Given the description of an element on the screen output the (x, y) to click on. 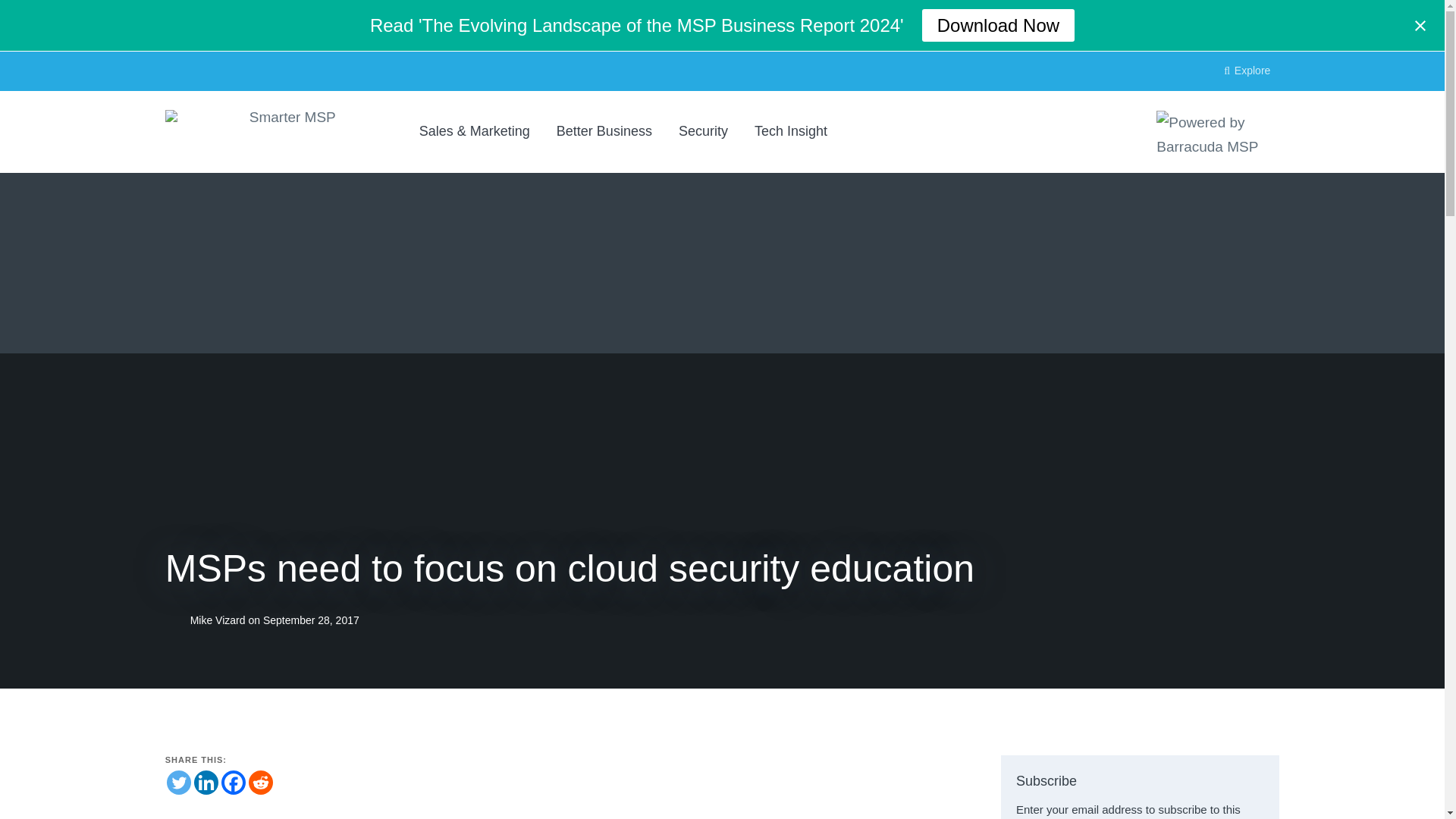
Download Now (997, 25)
